Given the description of an element on the screen output the (x, y) to click on. 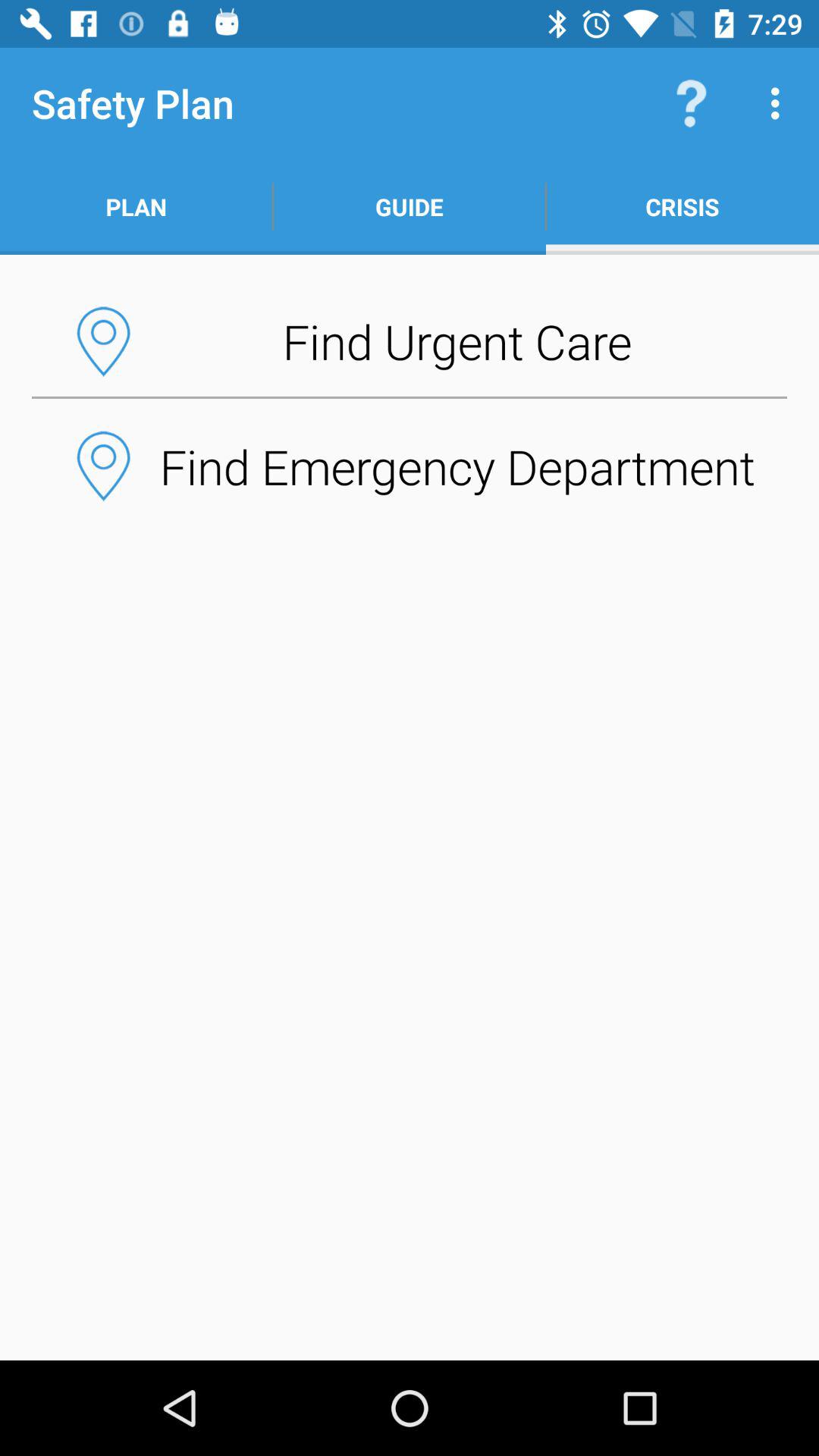
choose find emergency department button (409, 466)
